Given the description of an element on the screen output the (x, y) to click on. 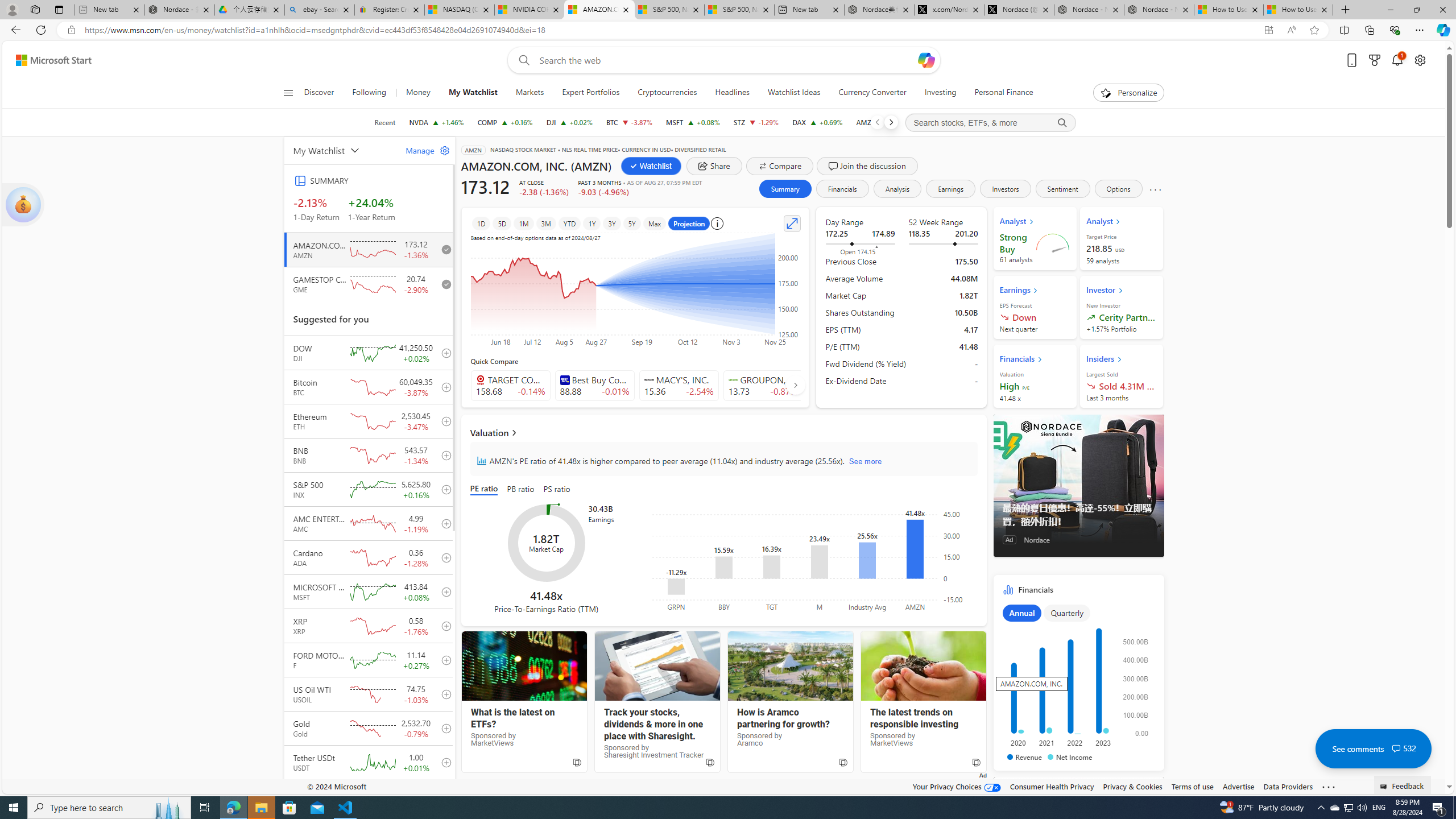
COMP NASDAQ increase 17,754.82 +29.06 +0.16% (505, 122)
Previous (876, 122)
Microsoft Start (53, 60)
MarketViews (922, 666)
5Y (631, 223)
Cryptocurrencies (667, 92)
Annual (1021, 612)
New tab - Sleeping (109, 9)
Currency Converter (872, 92)
PB ratio (520, 489)
add to your watchlist (442, 796)
